Given the description of an element on the screen output the (x, y) to click on. 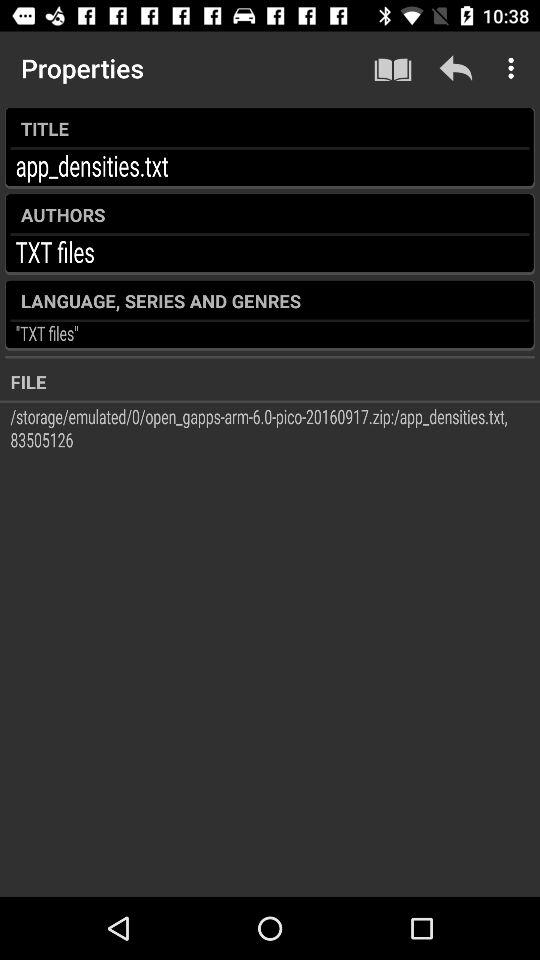
turn off icon above title (455, 67)
